Given the description of an element on the screen output the (x, y) to click on. 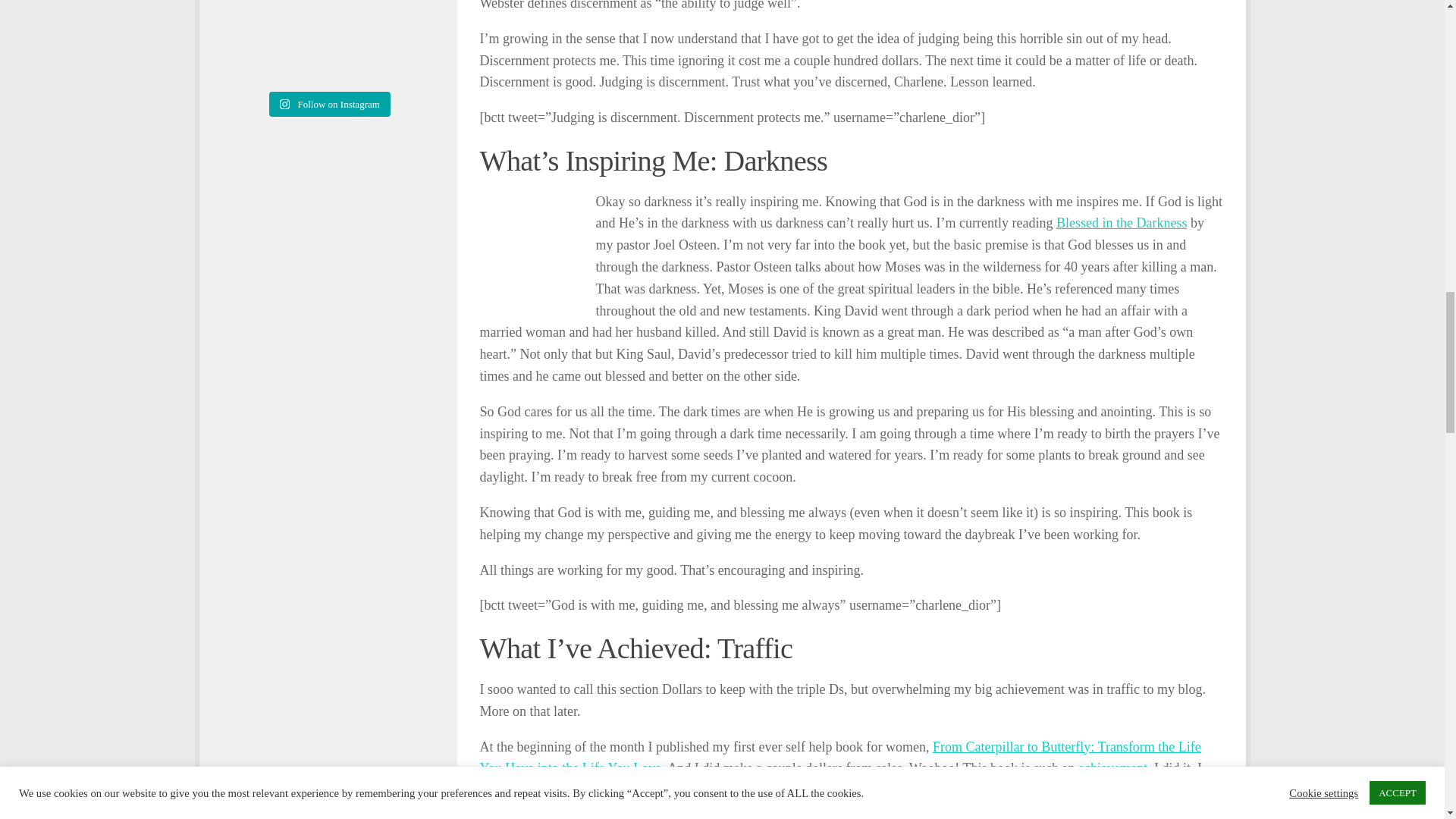
Blessed in the Darkness (1121, 222)
achievement (1112, 767)
